Given the description of an element on the screen output the (x, y) to click on. 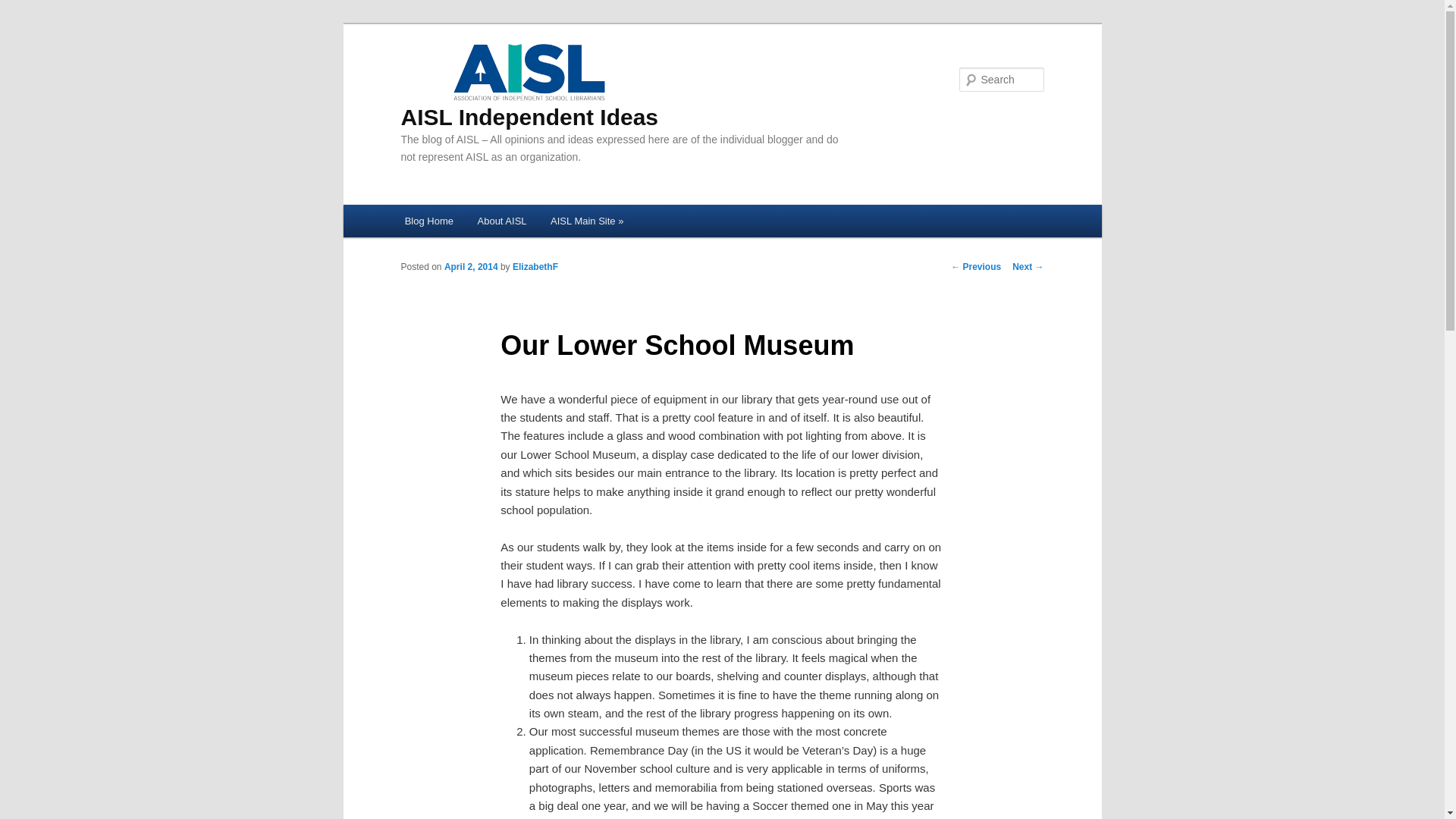
3:45 am (470, 266)
Search (24, 8)
ElizabethF (534, 266)
AISL Independent Ideas (529, 84)
April 2, 2014 (470, 266)
About AISL (501, 220)
Blog Home (429, 220)
View all posts by ElizabethF (534, 266)
